Given the description of an element on the screen output the (x, y) to click on. 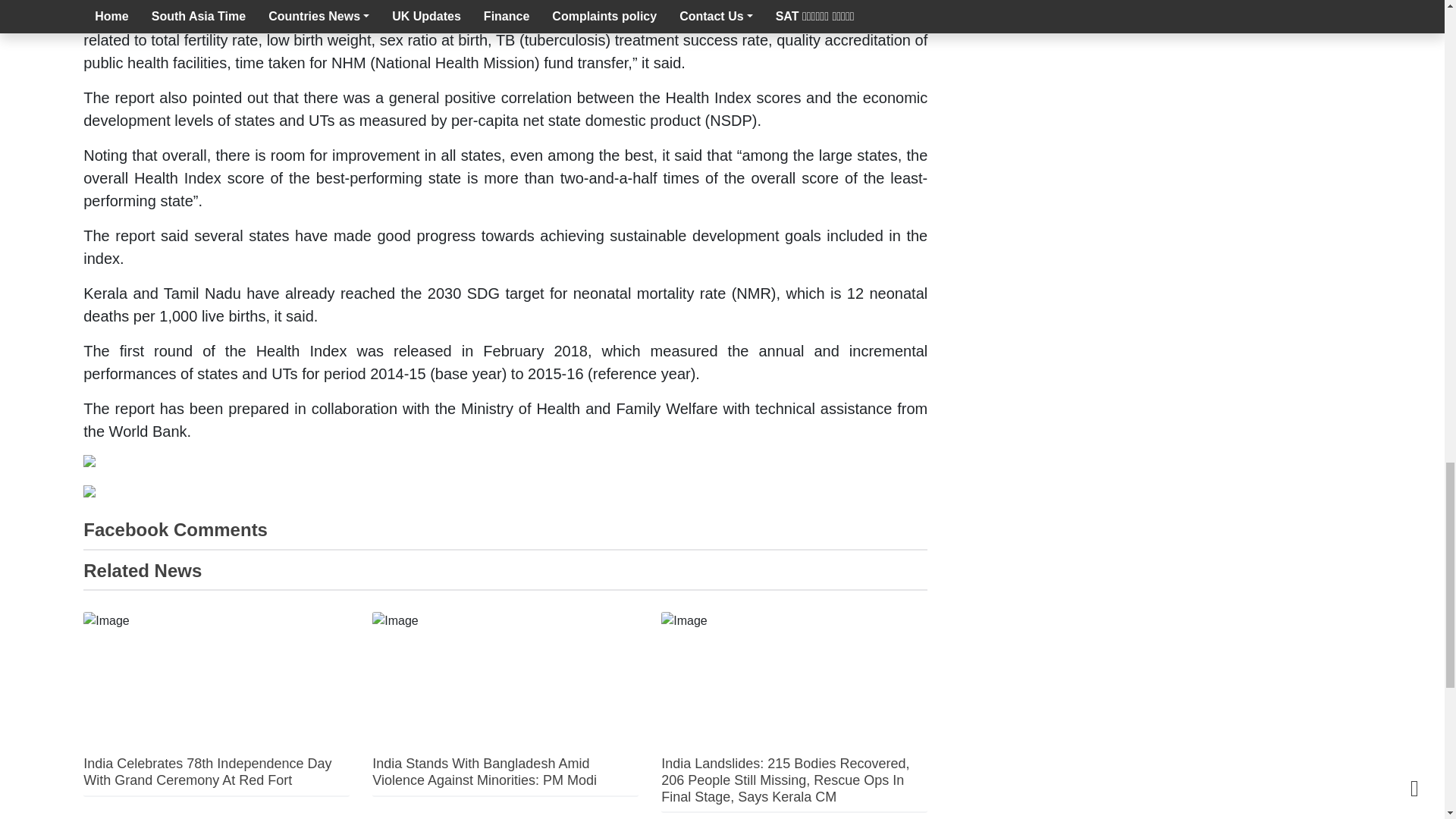
Facebook Comments (174, 529)
Related News (142, 570)
